Given the description of an element on the screen output the (x, y) to click on. 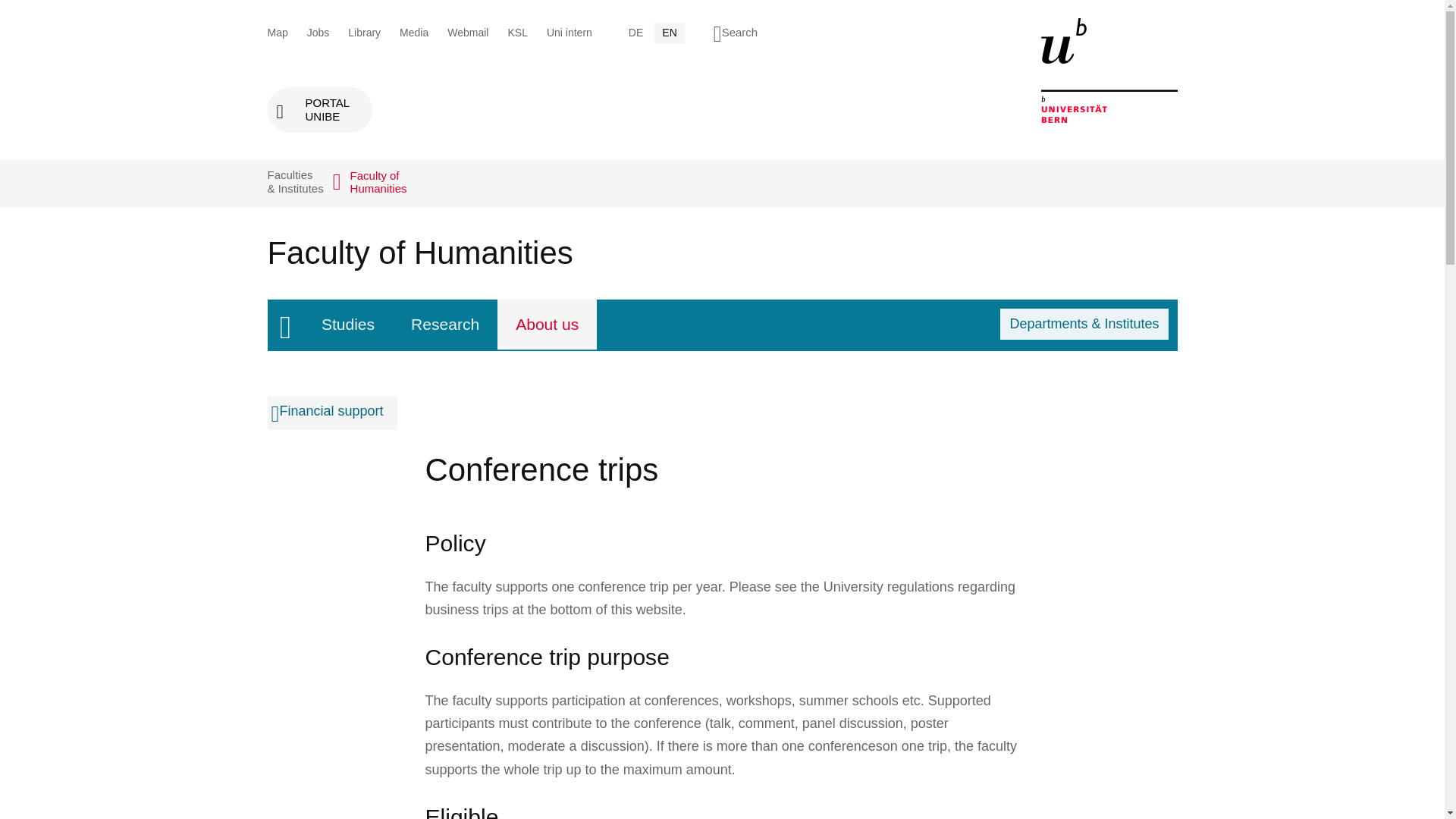
Studies (347, 324)
Homepage (284, 325)
About us (546, 324)
Research (319, 109)
